Given the description of an element on the screen output the (x, y) to click on. 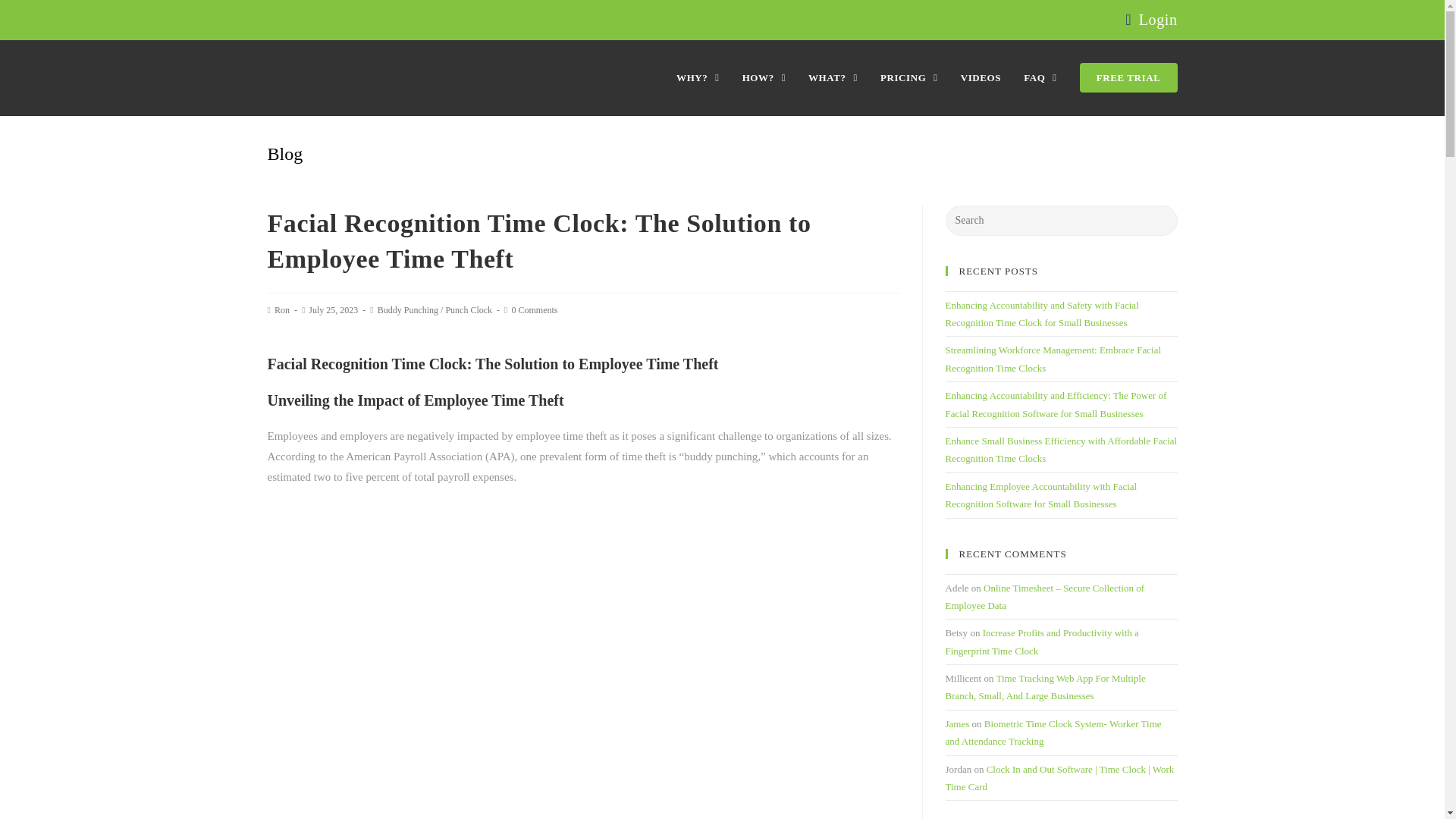
Punch Clock (468, 309)
0 Comments (534, 309)
Ron (282, 309)
FREE TRIAL (1128, 78)
Login (1157, 19)
WHAT? (832, 78)
Posts by Ron (282, 309)
PRICING (909, 78)
Buddy Punching (407, 309)
